Given the description of an element on the screen output the (x, y) to click on. 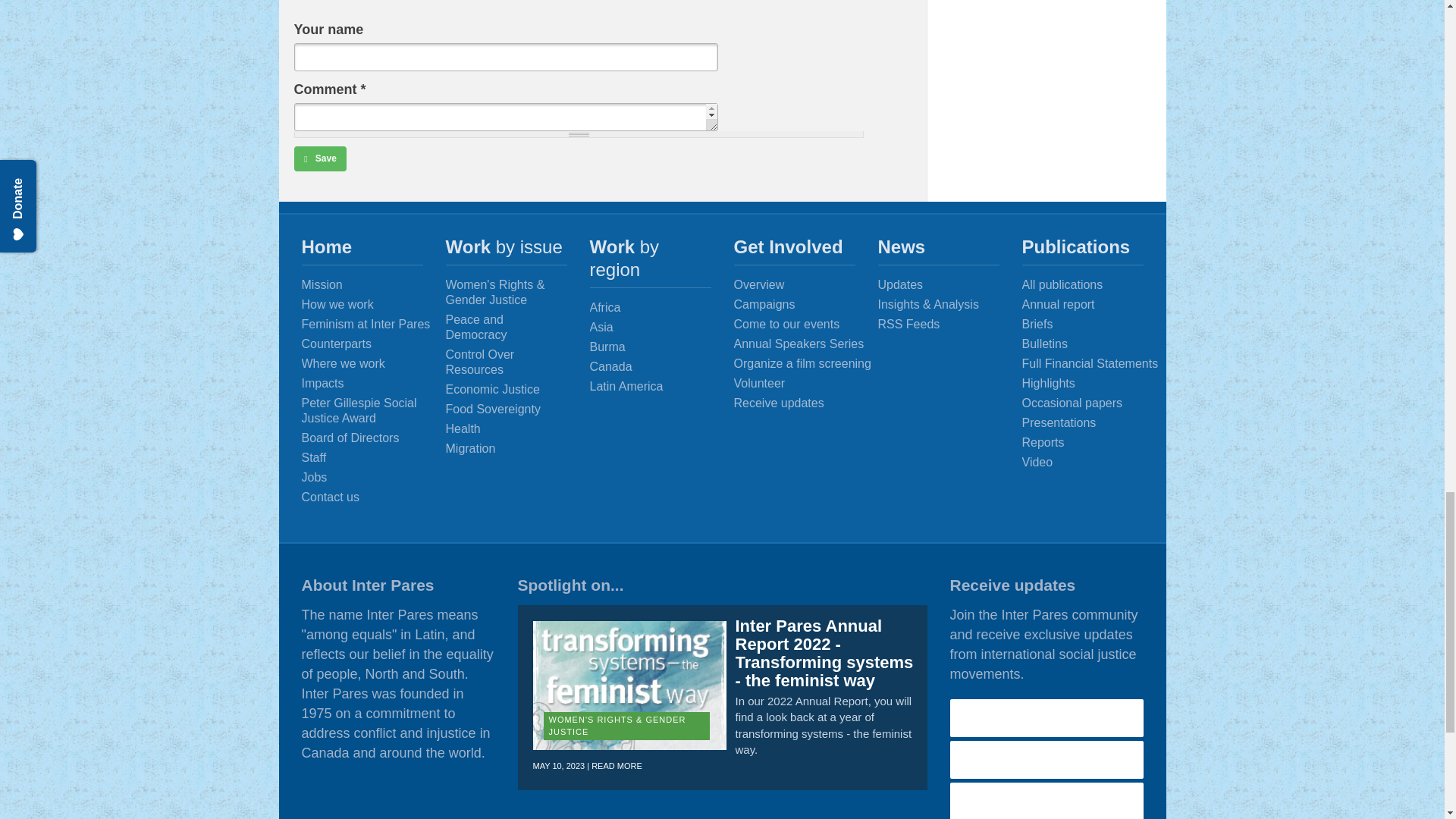
Upcoming events (806, 324)
